Given the description of an element on the screen output the (x, y) to click on. 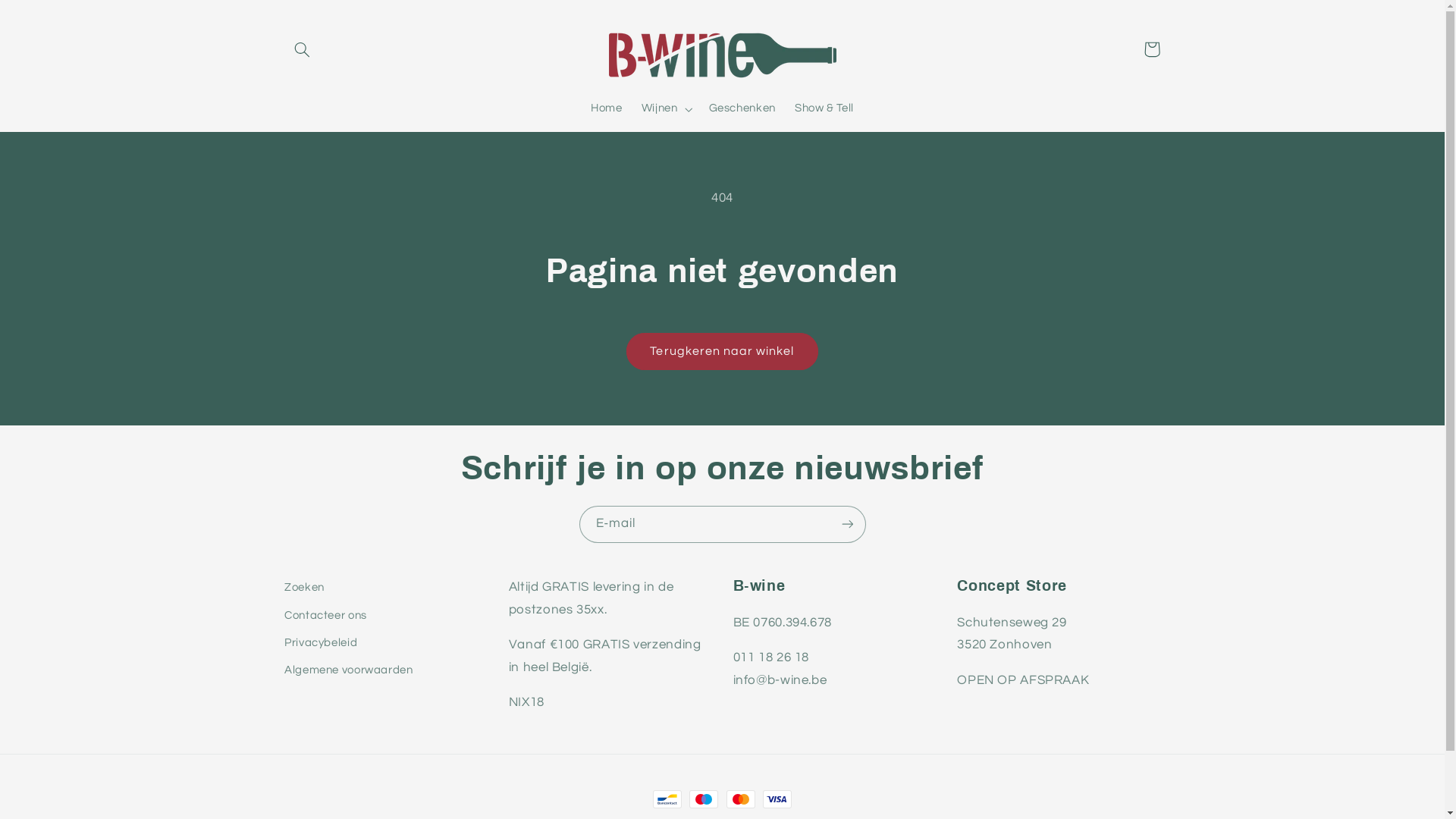
Privacybeleid Element type: text (320, 642)
Winkelwagen Element type: text (1151, 48)
Terugkeren naar winkel Element type: text (722, 351)
Zoeken Element type: text (304, 589)
Contacteer ons Element type: text (325, 614)
Home Element type: text (605, 108)
Show & Tell Element type: text (823, 108)
Geschenken Element type: text (742, 108)
Algemene voorwaarden Element type: text (348, 670)
